Given the description of an element on the screen output the (x, y) to click on. 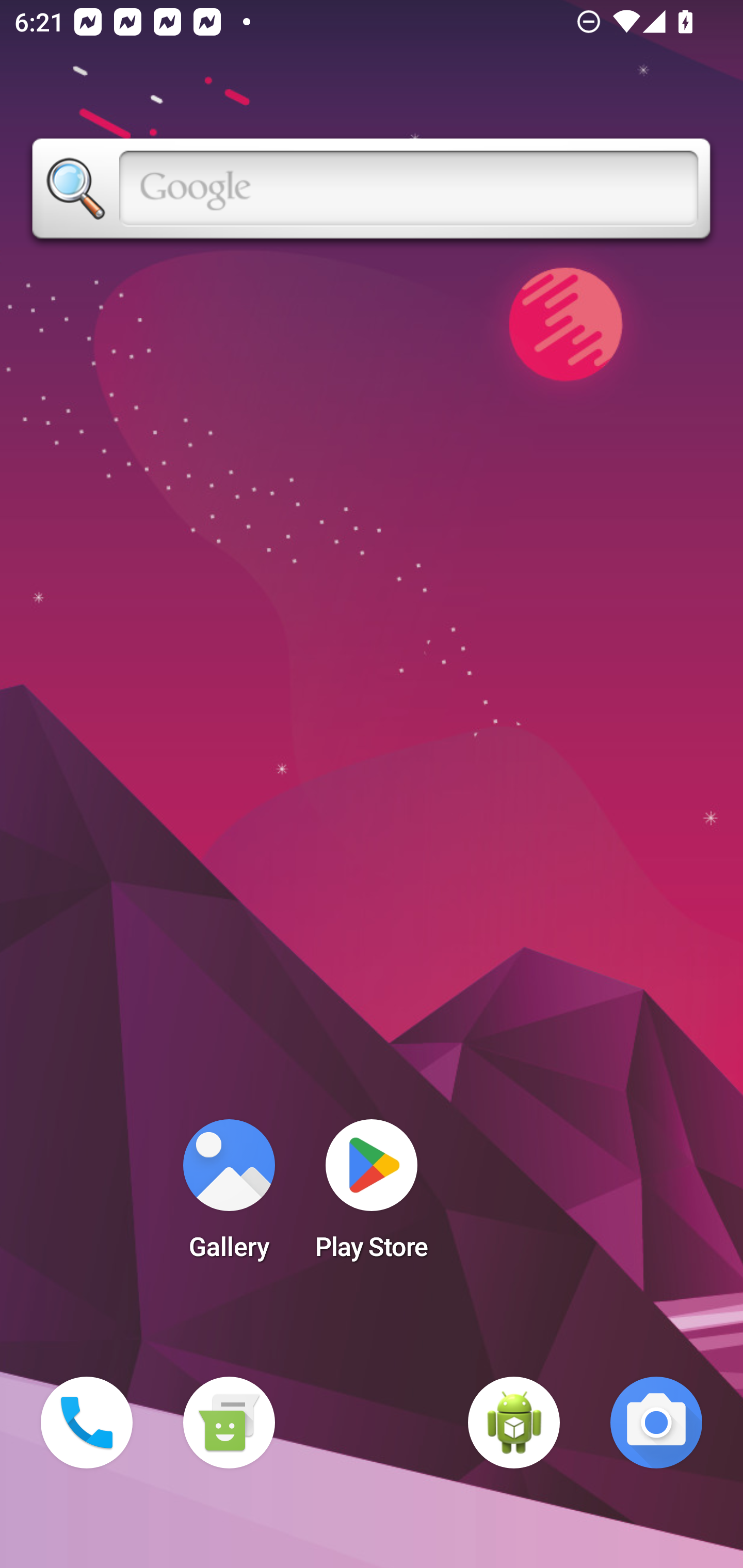
Gallery (228, 1195)
Play Store (371, 1195)
Phone (86, 1422)
Messaging (228, 1422)
WebView Browser Tester (513, 1422)
Camera (656, 1422)
